Given the description of an element on the screen output the (x, y) to click on. 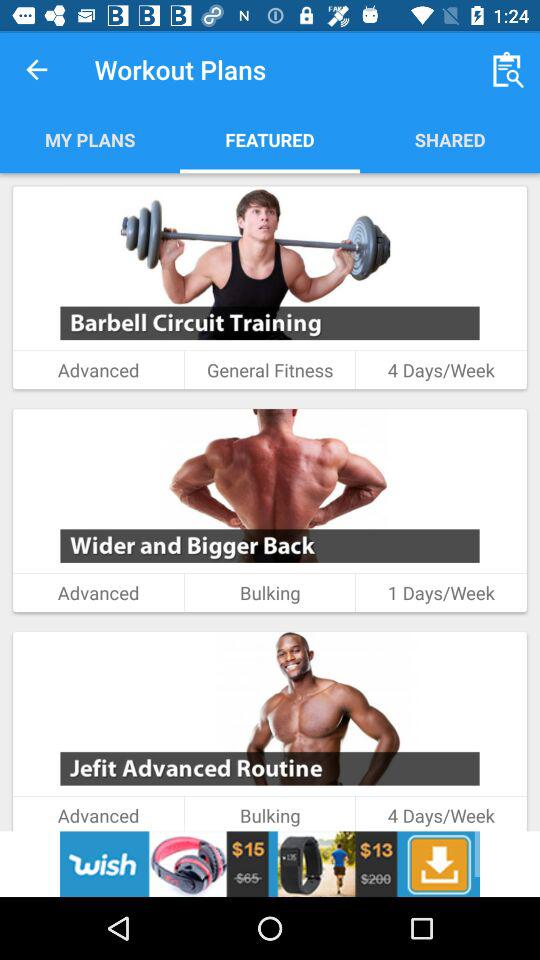
open advertisement (270, 864)
